Given the description of an element on the screen output the (x, y) to click on. 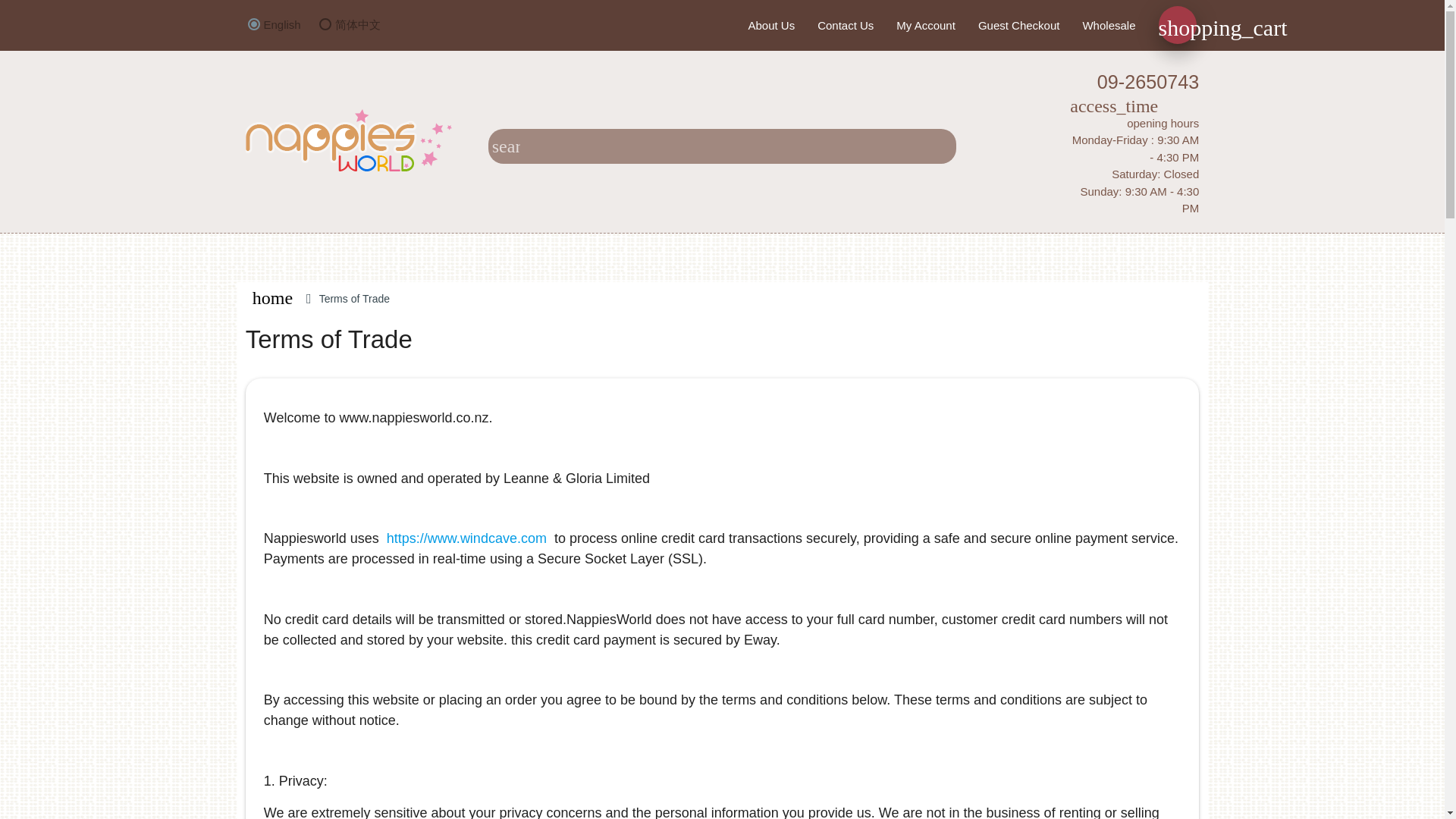
Nappies World NZ (348, 139)
Contact Us (845, 25)
Guest Checkout (1018, 25)
My Account (925, 25)
home (272, 298)
09-2650743 (1086, 82)
About Us (771, 25)
Wholesale (1108, 25)
